Given the description of an element on the screen output the (x, y) to click on. 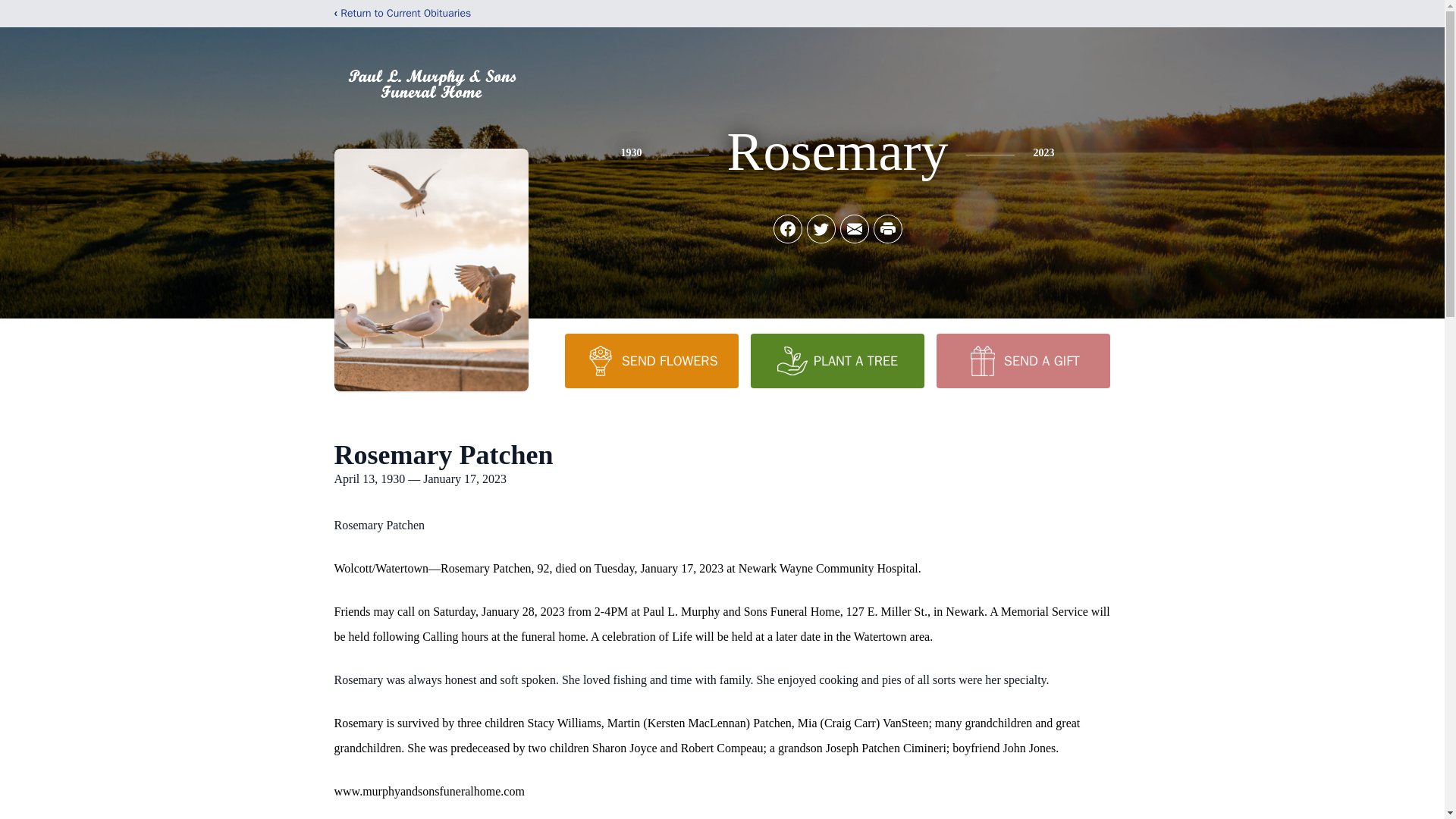
SEND FLOWERS (651, 360)
PLANT A TREE (837, 360)
SEND A GIFT (1022, 360)
